Given the description of an element on the screen output the (x, y) to click on. 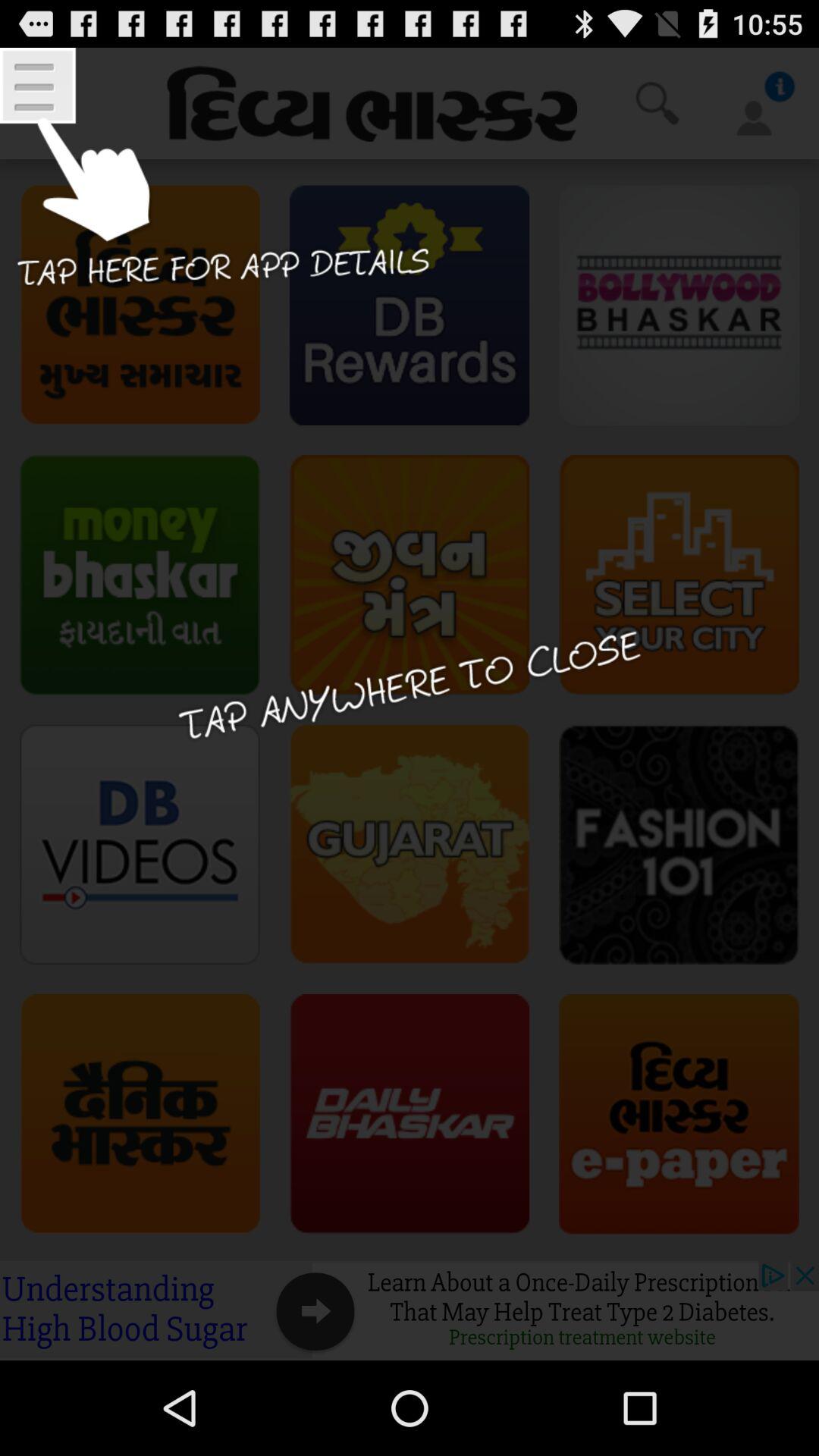
tap to close didacticiel (409, 703)
